Given the description of an element on the screen output the (x, y) to click on. 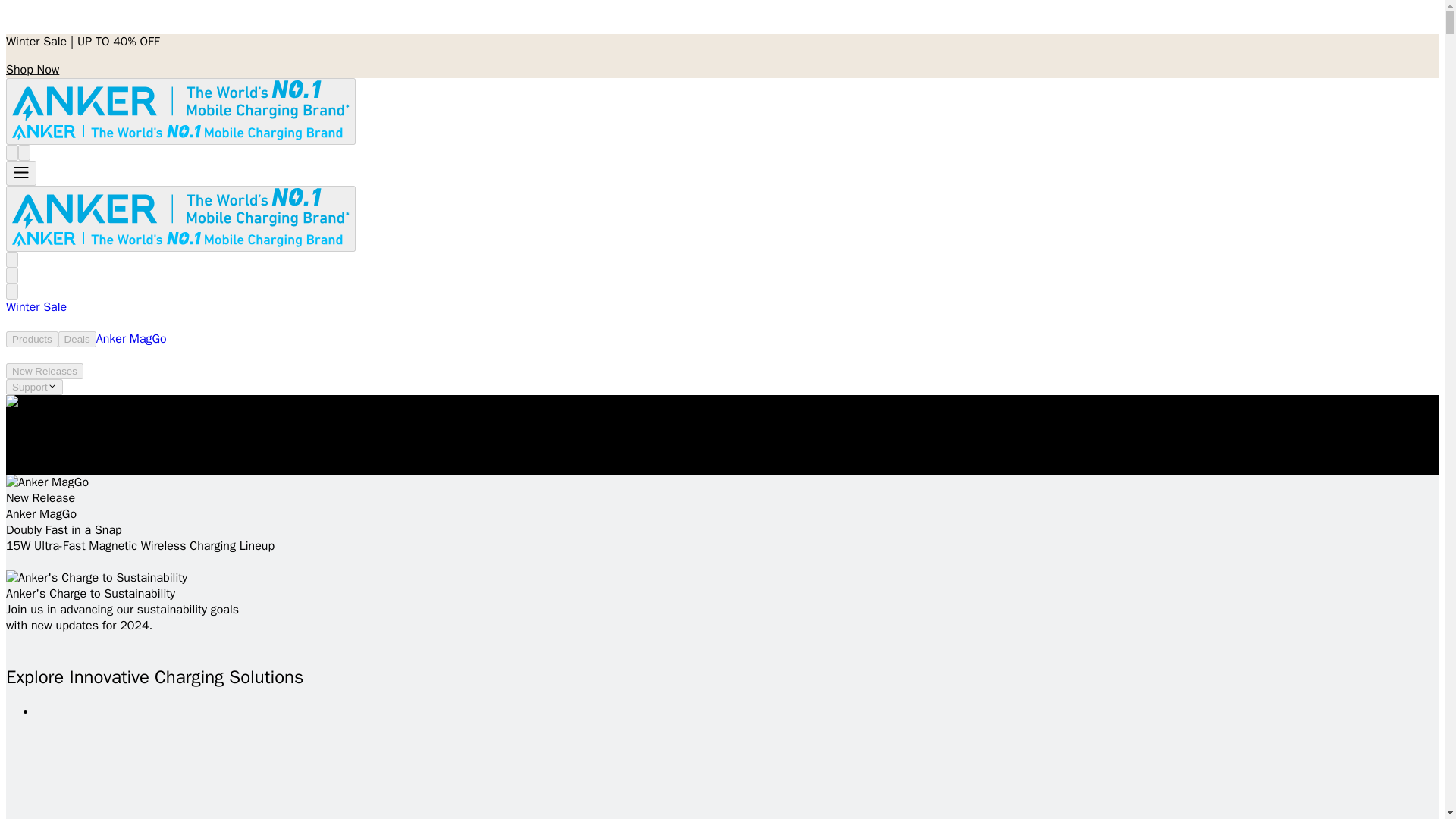
Shop Now (32, 69)
New Releases (43, 371)
Deals (77, 339)
Support (33, 386)
Products (31, 339)
